Given the description of an element on the screen output the (x, y) to click on. 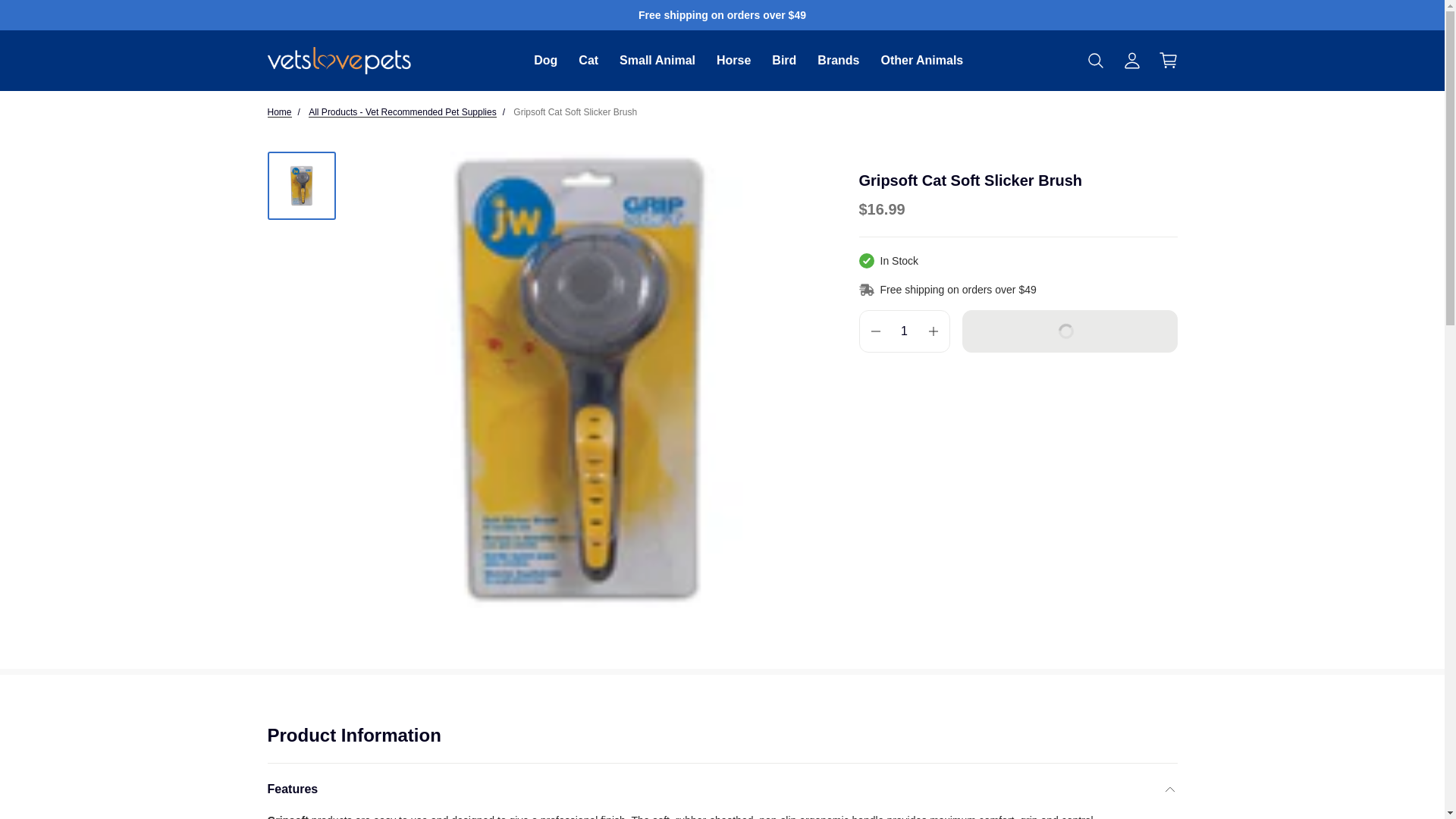
1 (904, 331)
Account Dashboard (1131, 60)
Cat (588, 60)
Vets Love Pets (338, 60)
Dog (545, 60)
Small Animal (657, 60)
